Given the description of an element on the screen output the (x, y) to click on. 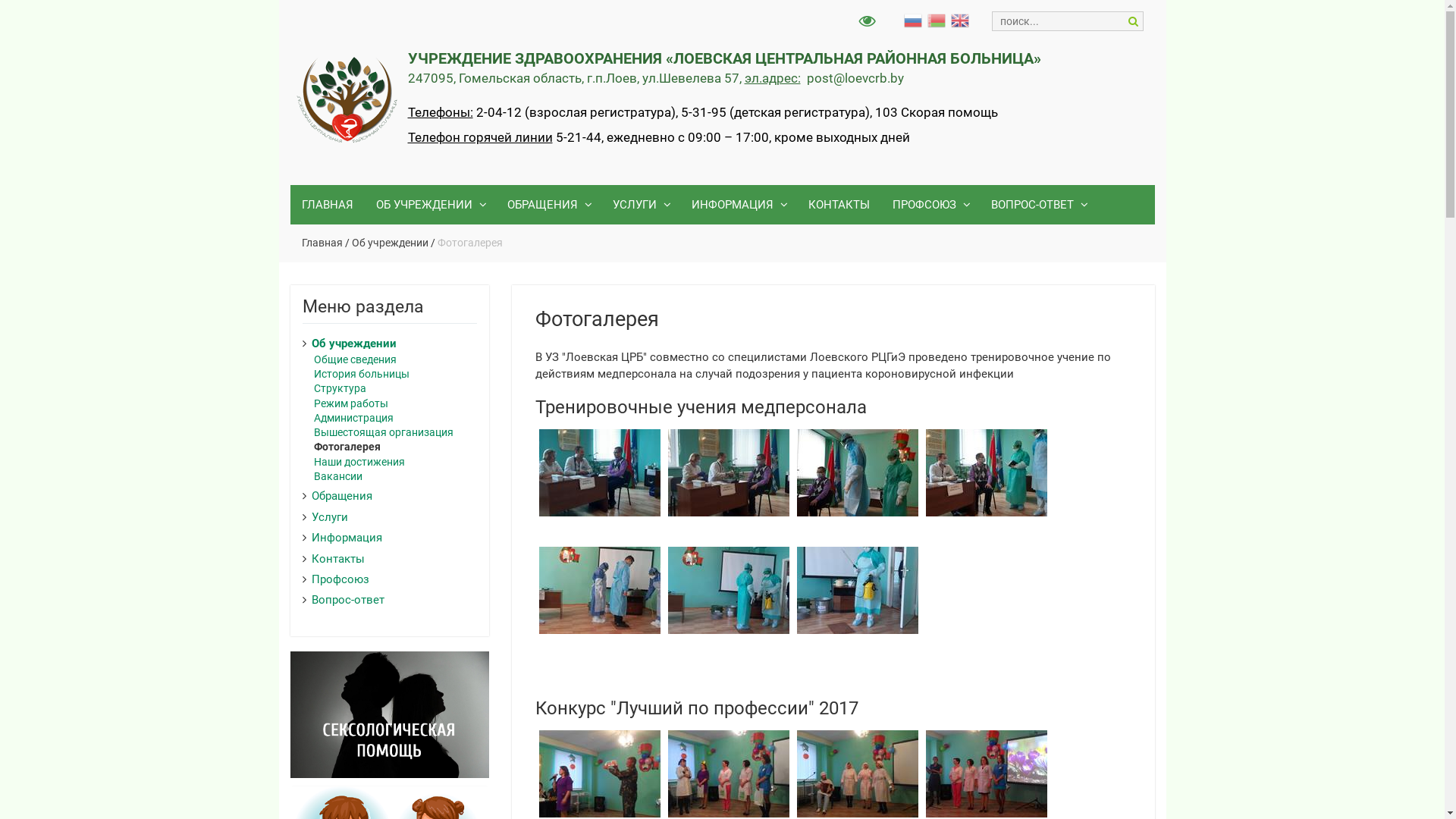
post@loevcrb.by Element type: text (854, 78)
